Given the description of an element on the screen output the (x, y) to click on. 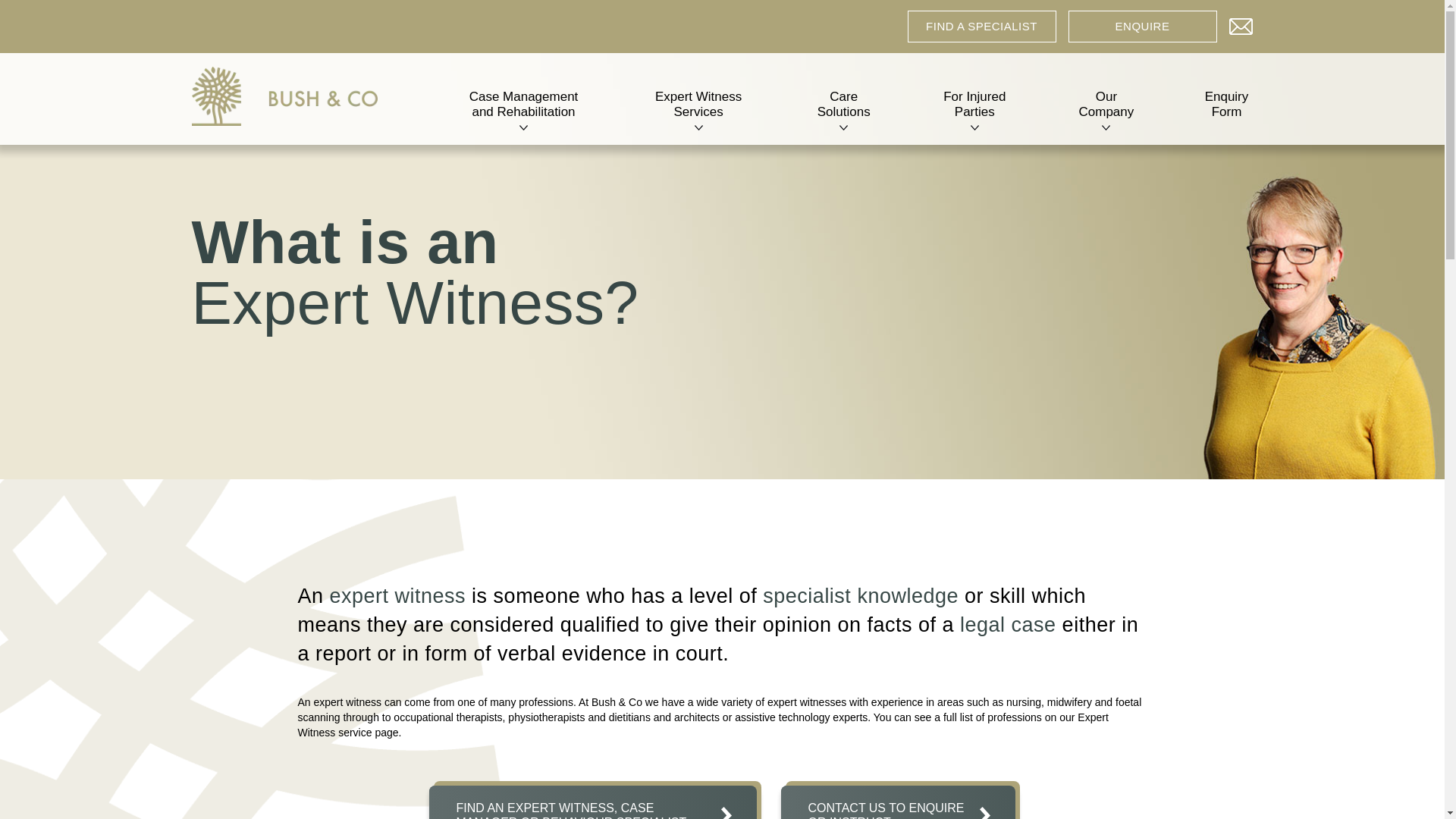
CONTACT US VIA EMAIL (1240, 22)
FIND A SPECIALIST (981, 26)
Expert Witness Services (698, 107)
ENQUIRE (1141, 26)
Case Management and Rehabilitation (523, 107)
